Given the description of an element on the screen output the (x, y) to click on. 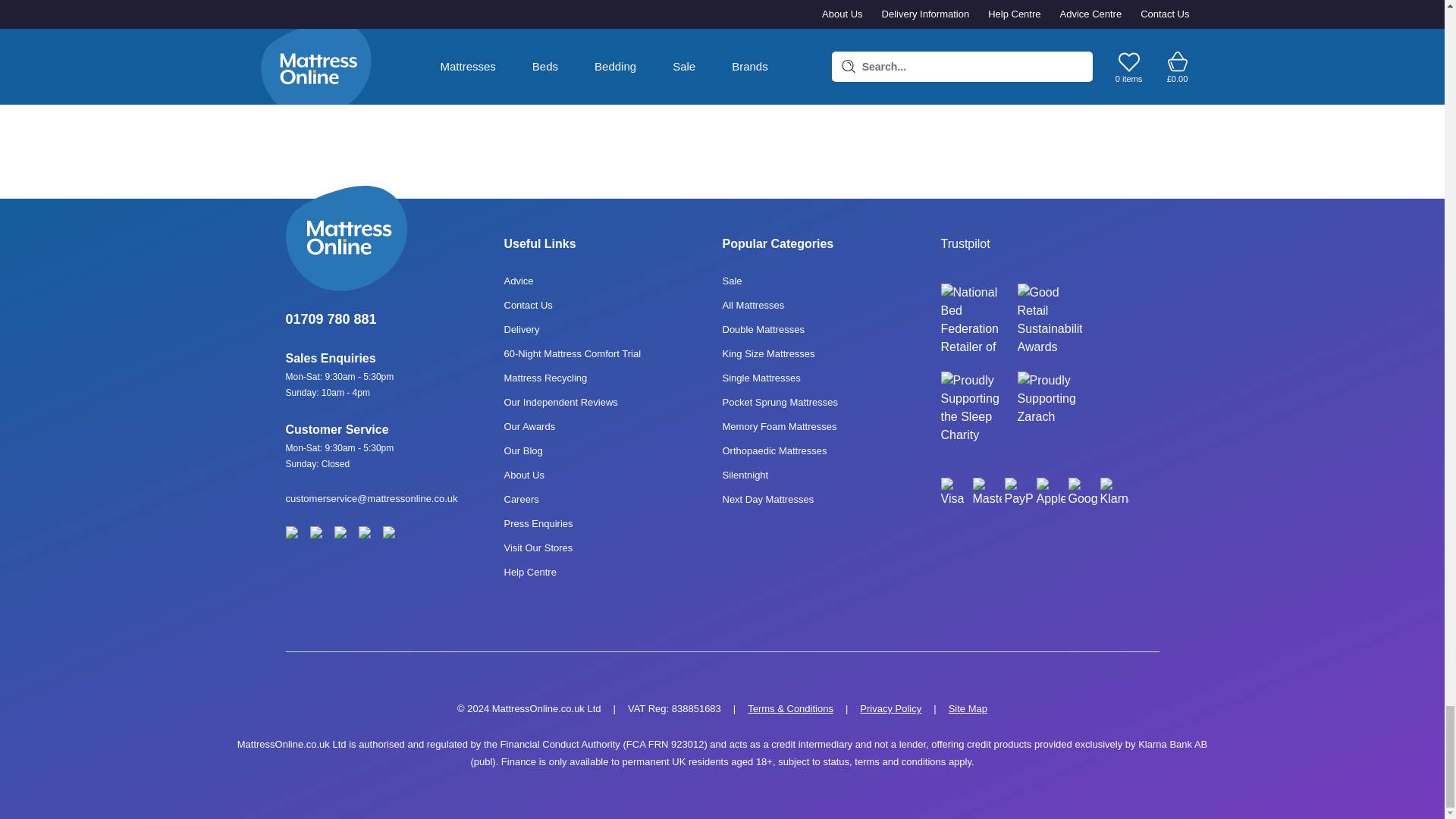
Mattress Online Logo (345, 237)
Sleeping with separate duvets (705, 4)
Go to Homepage (394, 238)
To nap or not to nap? (973, 4)
